Given the description of an element on the screen output the (x, y) to click on. 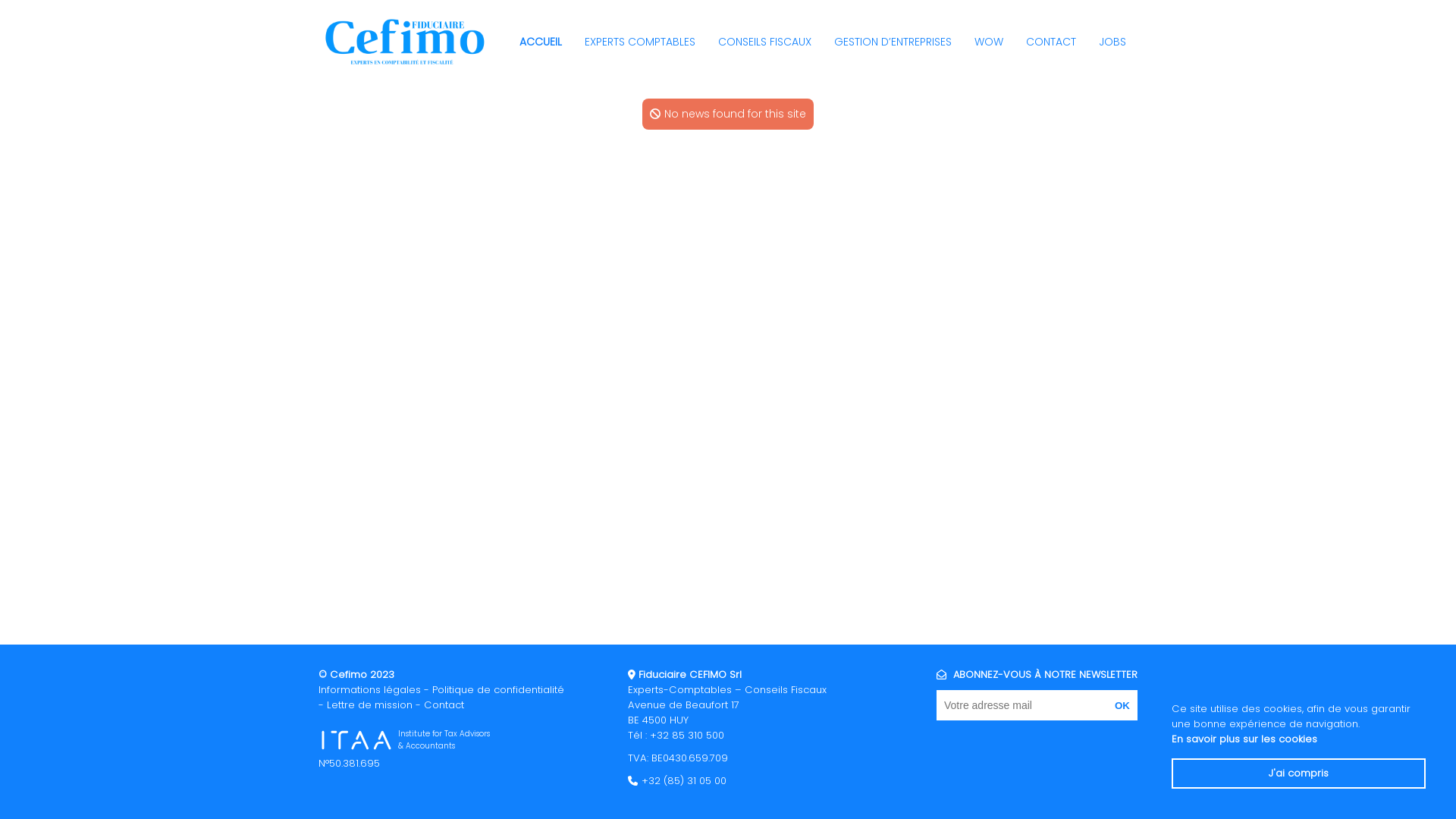
En savoir plus sur les cookies Element type: text (1244, 738)
Cefimo Element type: hover (401, 41)
Lettre de mission Element type: text (369, 704)
EXPERTS COMPTABLES Element type: text (639, 41)
OK Element type: text (1122, 705)
ACCUEIL Element type: text (540, 41)
CONTACT Element type: text (1050, 41)
CONSEILS FISCAUX Element type: text (764, 41)
JOBS Element type: text (1112, 41)
WOW Element type: text (988, 41)
+32 (85) 31 05 00 Element type: text (683, 780)
Contact Element type: text (443, 704)
